Given the description of an element on the screen output the (x, y) to click on. 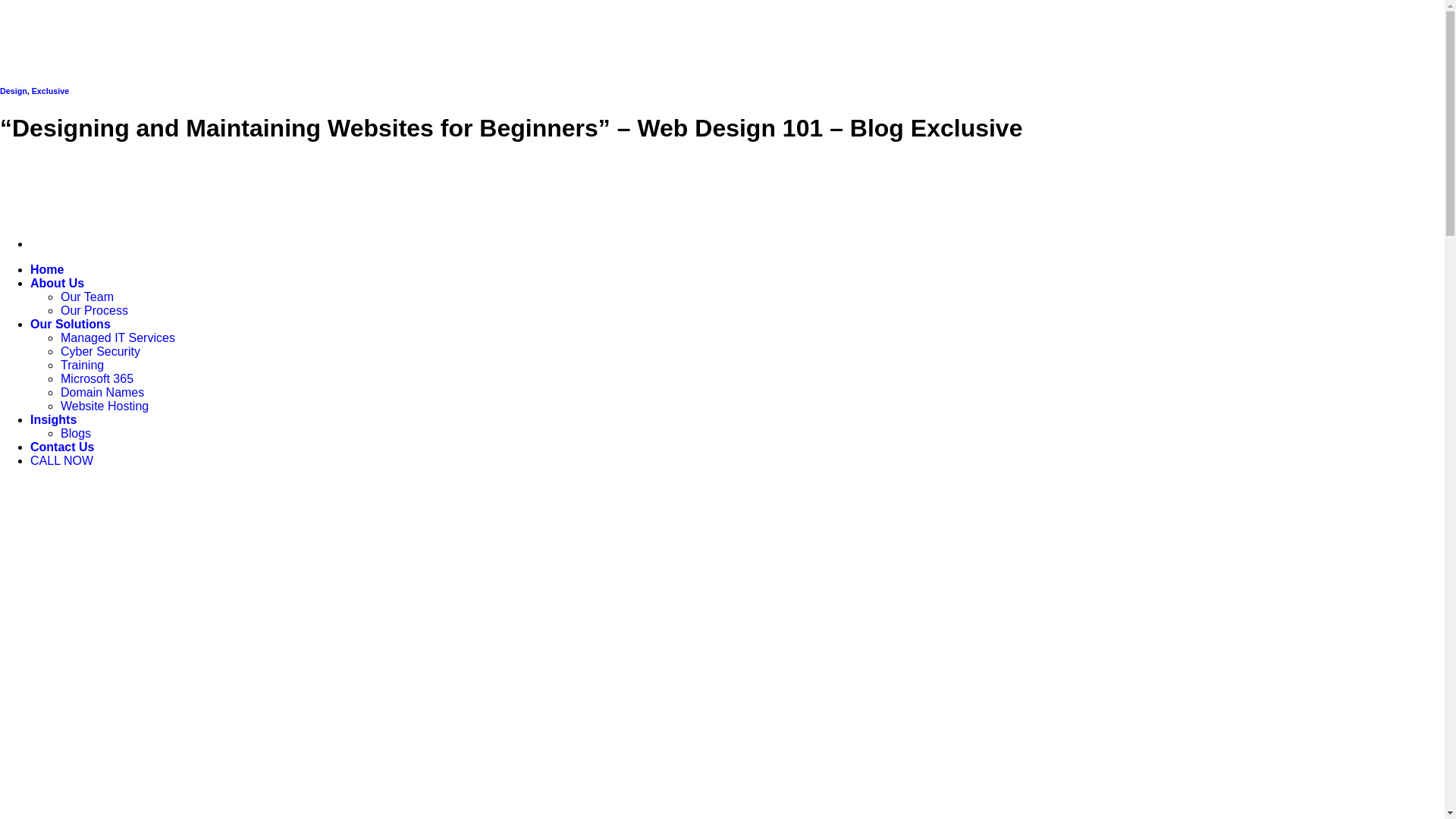
Insights Element type: text (53, 419)
Website Hosting Element type: text (104, 405)
About Us Element type: text (57, 282)
Home Element type: text (46, 269)
Our Solutions Element type: text (70, 323)
Microsoft 365 Element type: text (96, 378)
Managed IT Services Element type: text (117, 337)
Cyber Security Element type: text (100, 351)
Design Element type: text (13, 90)
Contact Us Element type: text (62, 446)
Training Element type: text (81, 364)
Domain Names Element type: text (102, 391)
Our Team Element type: text (86, 296)
CALL NOW Element type: text (61, 460)
Our Process Element type: text (94, 310)
Exclusive Element type: text (50, 90)
Blogs Element type: text (75, 432)
